Given the description of an element on the screen output the (x, y) to click on. 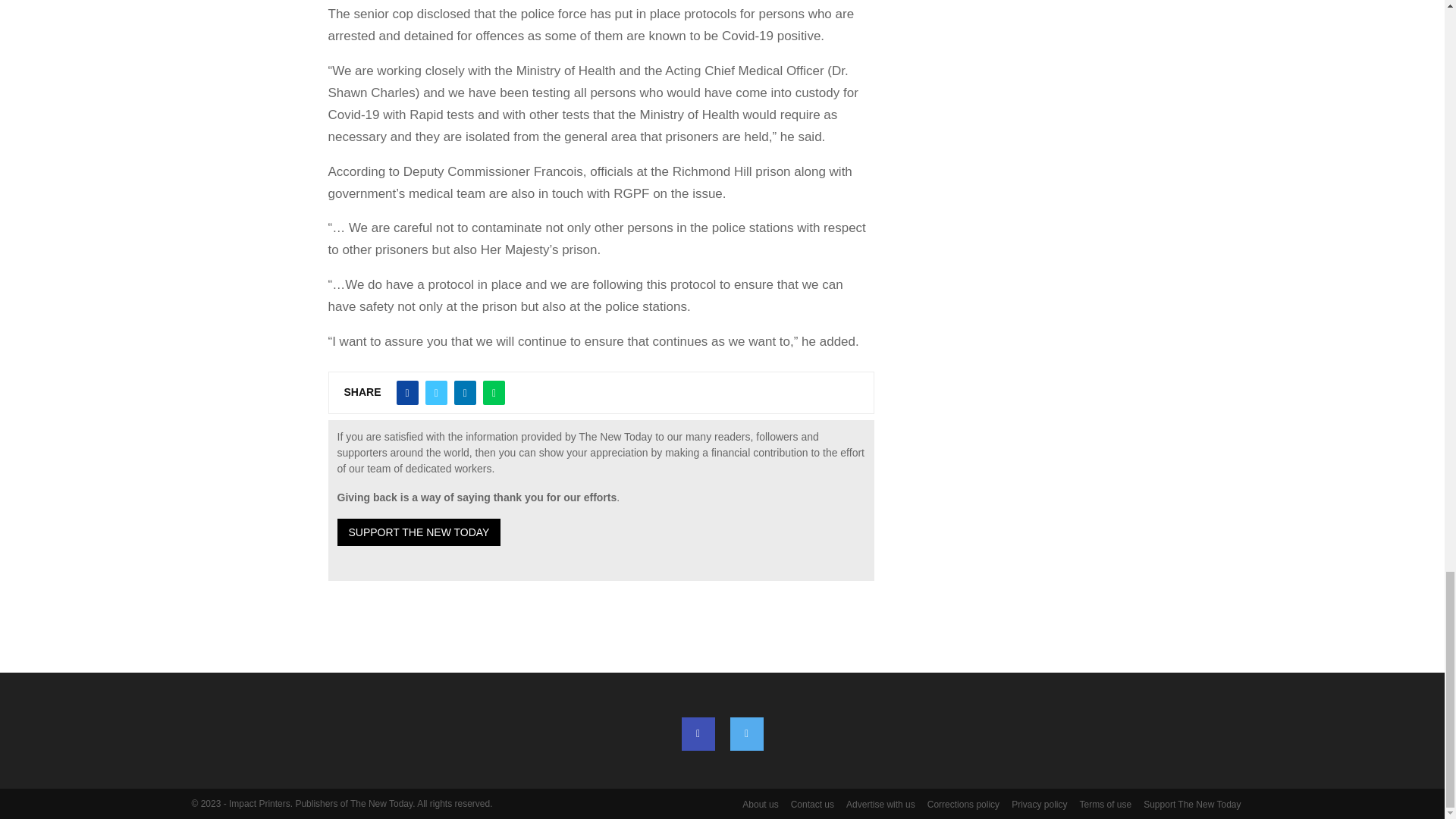
Facebook (697, 734)
Twitter (745, 734)
SUPPORT THE NEW TODAY (418, 532)
